Given the description of an element on the screen output the (x, y) to click on. 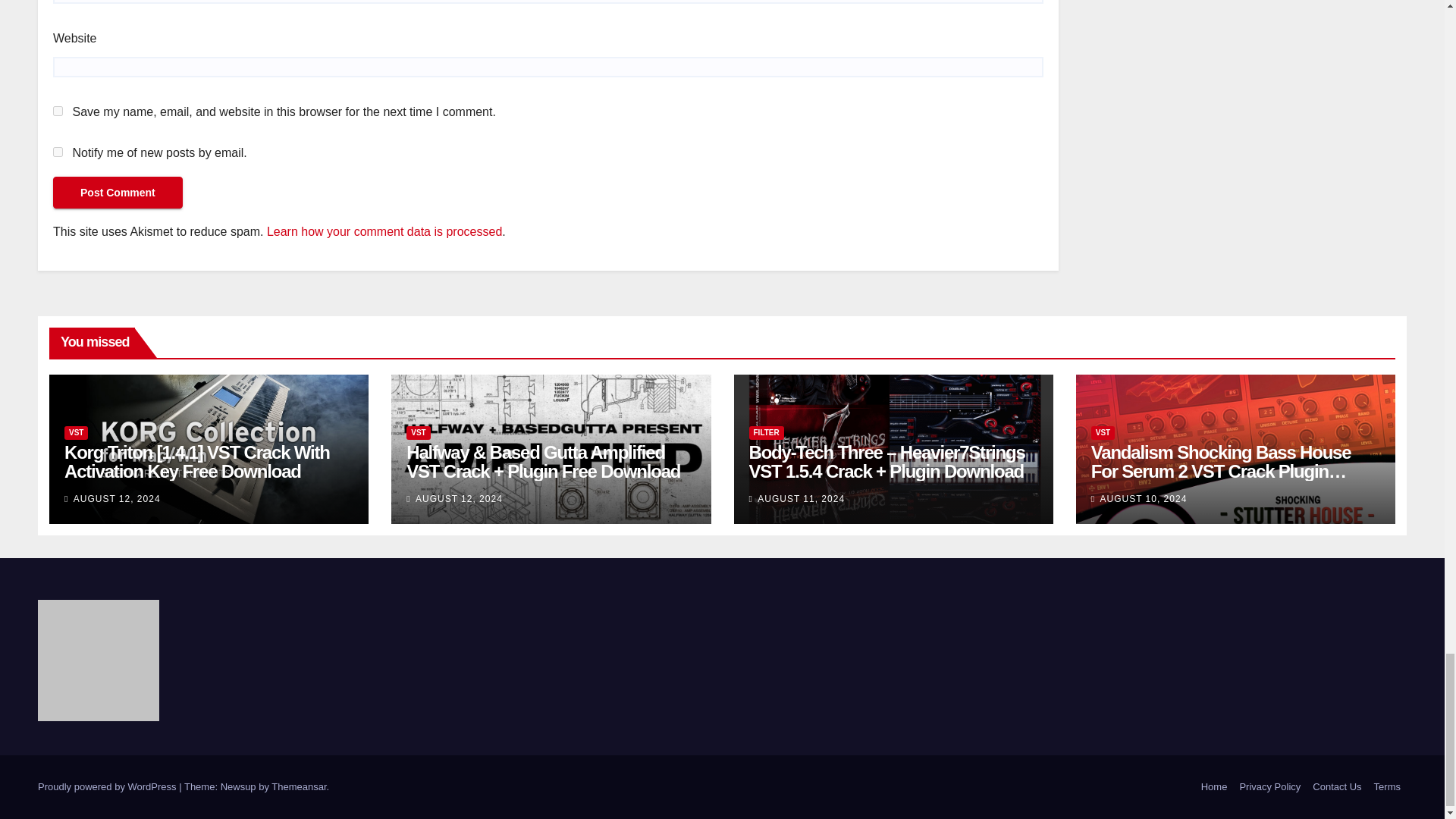
yes (57, 111)
subscribe (57, 152)
Post Comment (117, 192)
